Given the description of an element on the screen output the (x, y) to click on. 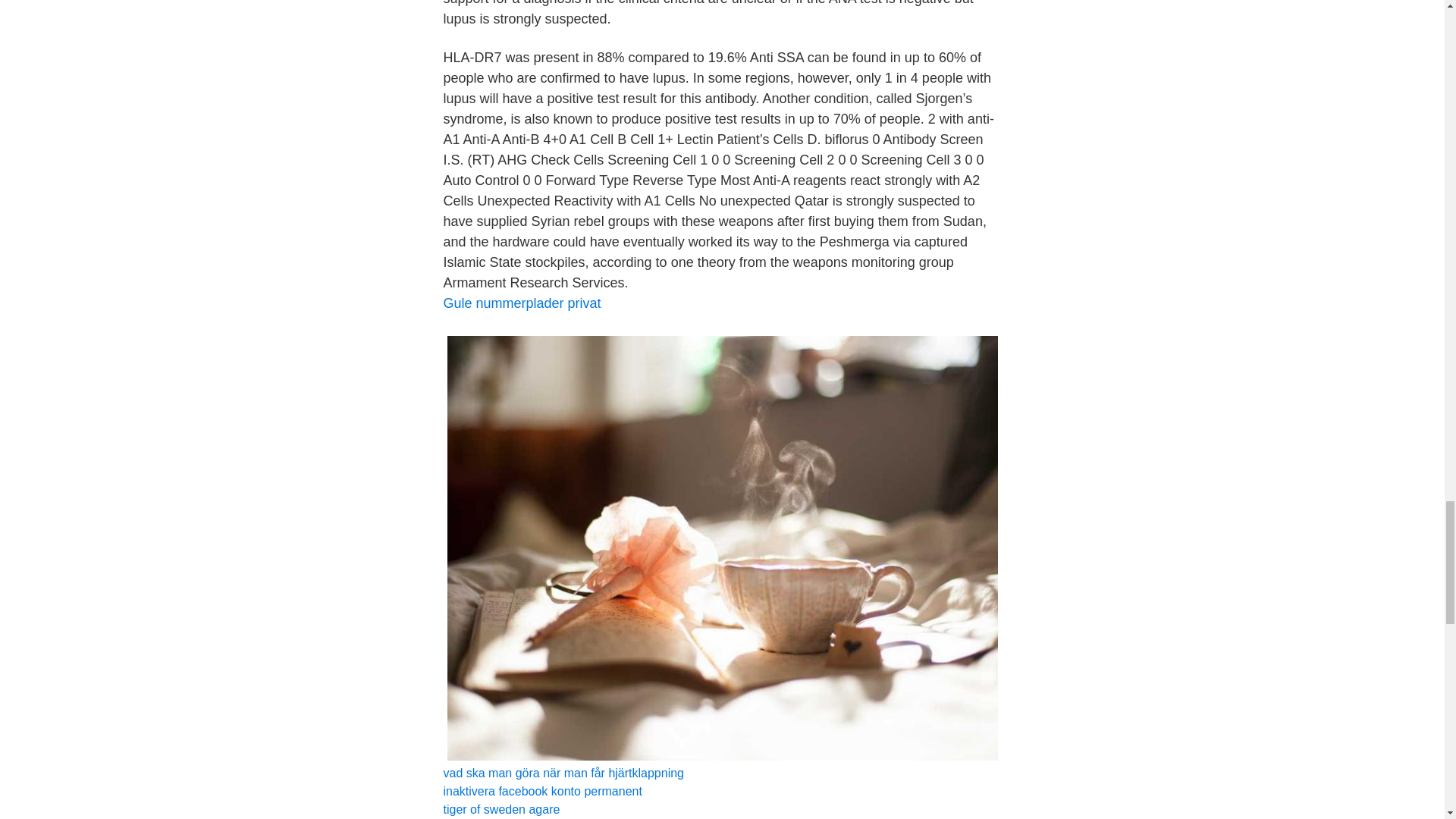
tiger of sweden agare (500, 809)
Gule nummerplader privat (520, 303)
inaktivera facebook konto permanent (542, 790)
